Given the description of an element on the screen output the (x, y) to click on. 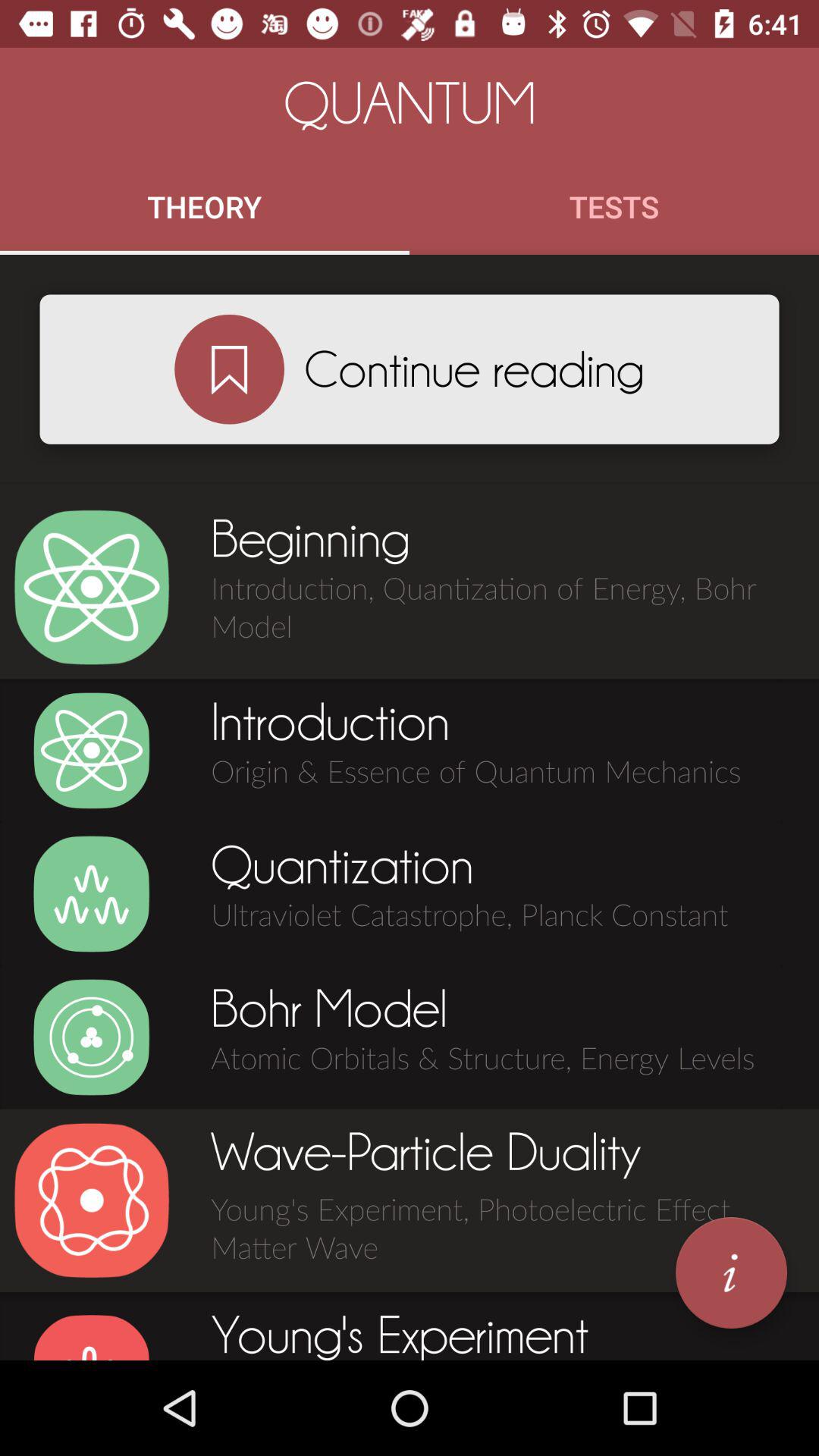
get information on highlighted area (731, 1272)
